Given the description of an element on the screen output the (x, y) to click on. 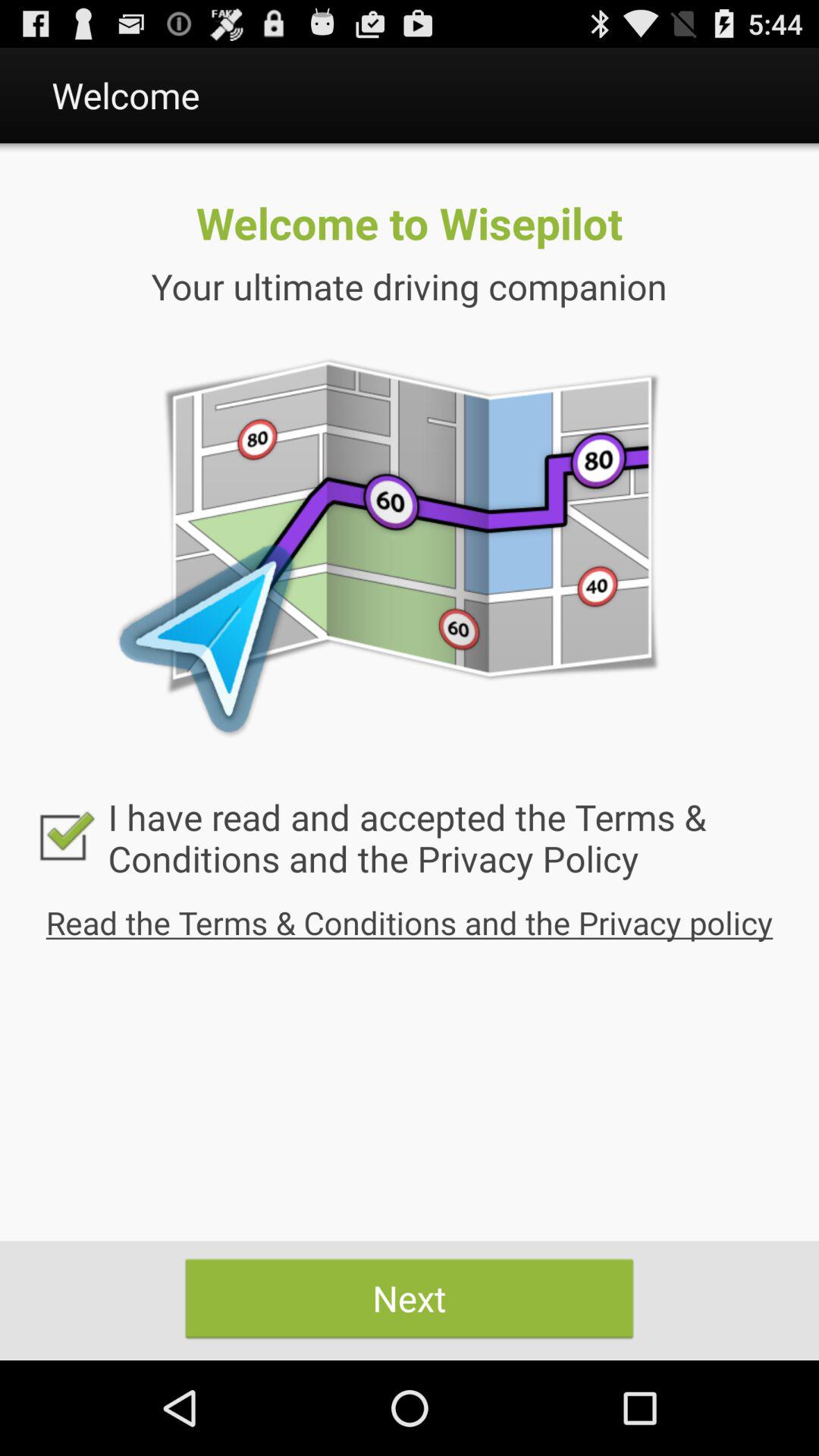
jump until next item (409, 1298)
